Given the description of an element on the screen output the (x, y) to click on. 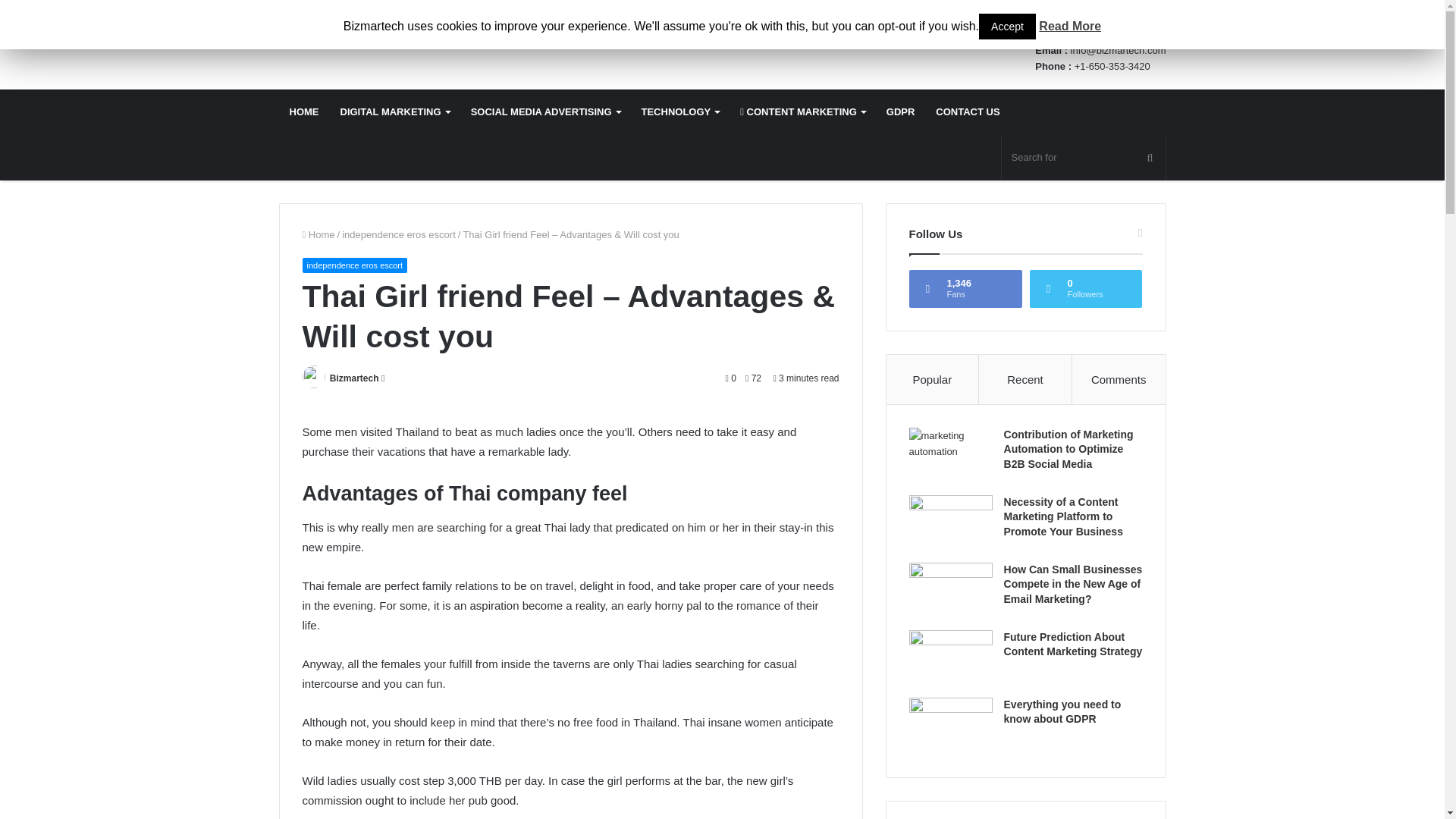
SOCIAL MEDIA ADVERTISING (545, 112)
independence eros escort (398, 234)
DIGITAL MARKETING (394, 112)
CONTENT MARKETING (802, 112)
Home (317, 234)
GDPR (901, 112)
HOME (304, 112)
Bizmartech (354, 378)
independence eros escort (354, 264)
TECHNOLOGY (680, 112)
